Given the description of an element on the screen output the (x, y) to click on. 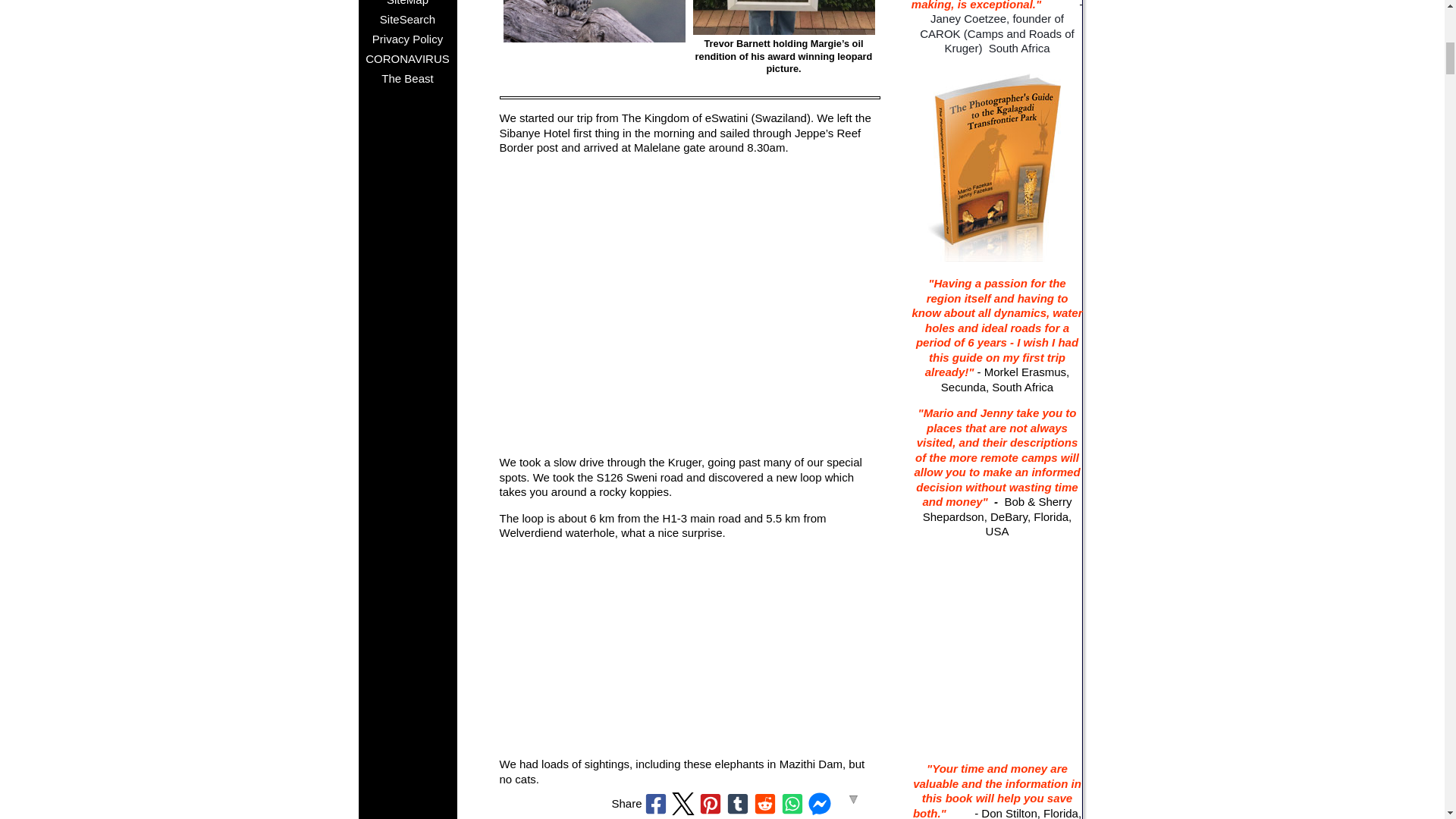
Go to The Photographers Guide to Etosha National Park  (997, 742)
